Given the description of an element on the screen output the (x, y) to click on. 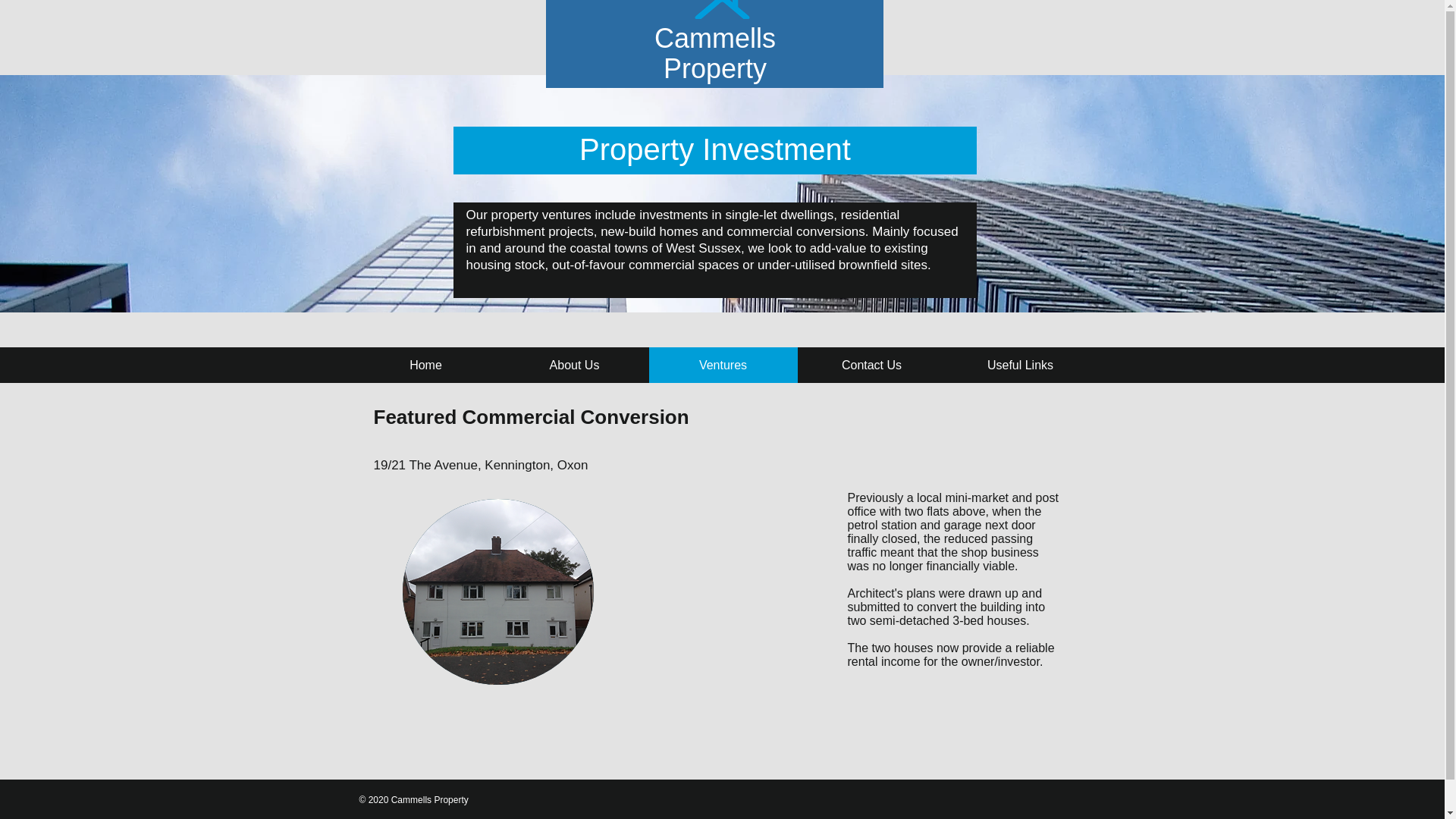
Cammells (714, 38)
About Us (574, 365)
Contact Us (871, 365)
Ventures (723, 365)
Useful Links (1020, 365)
Home (426, 365)
